Given the description of an element on the screen output the (x, y) to click on. 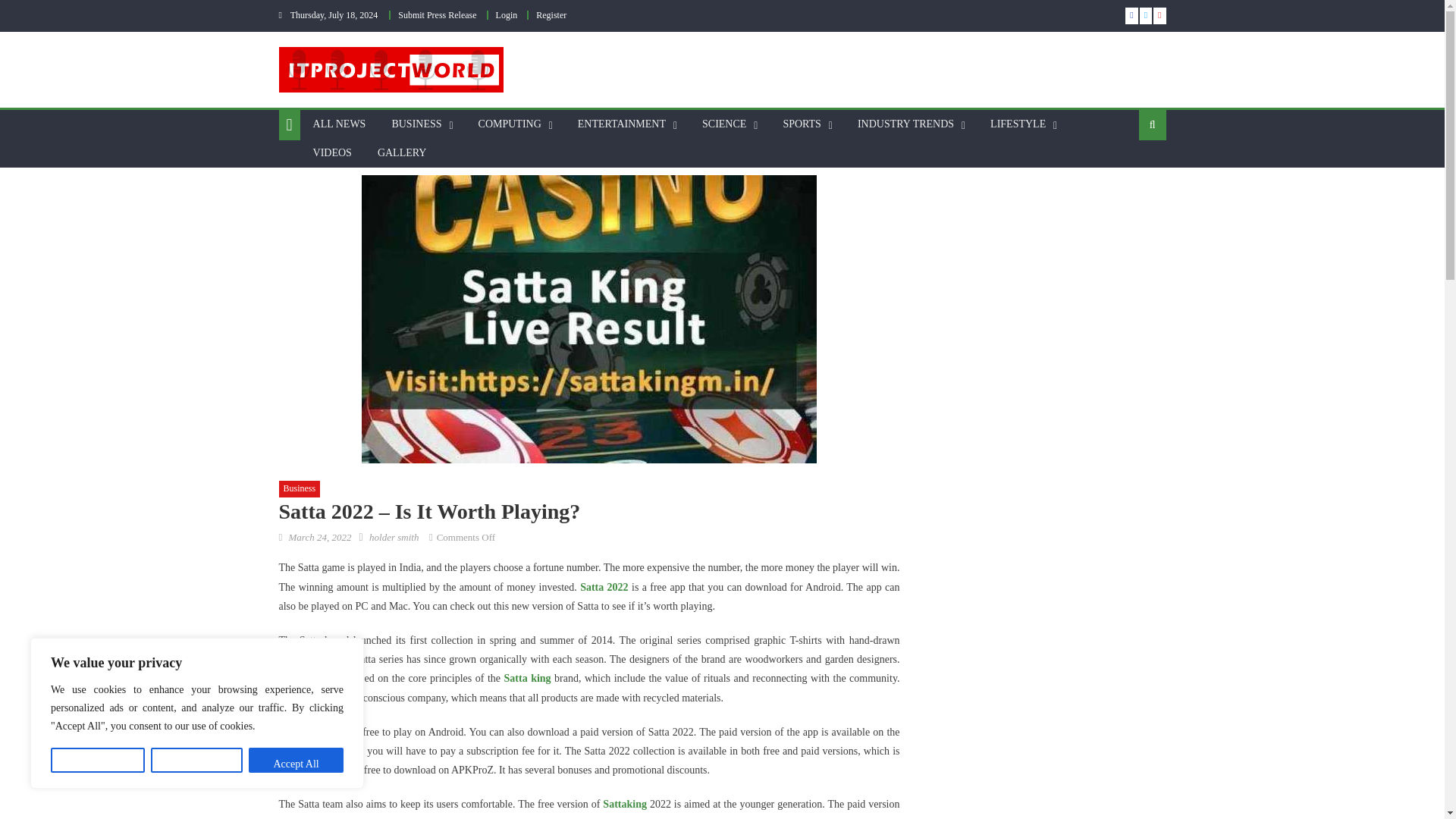
ENTERTAINMENT (621, 123)
COMPUTING (510, 123)
Customize (97, 760)
Login (507, 14)
BUSINESS (416, 123)
Register (550, 14)
Reject All (197, 760)
ALL NEWS (339, 123)
Accept All (295, 760)
Submit Press Release (436, 14)
